Given the description of an element on the screen output the (x, y) to click on. 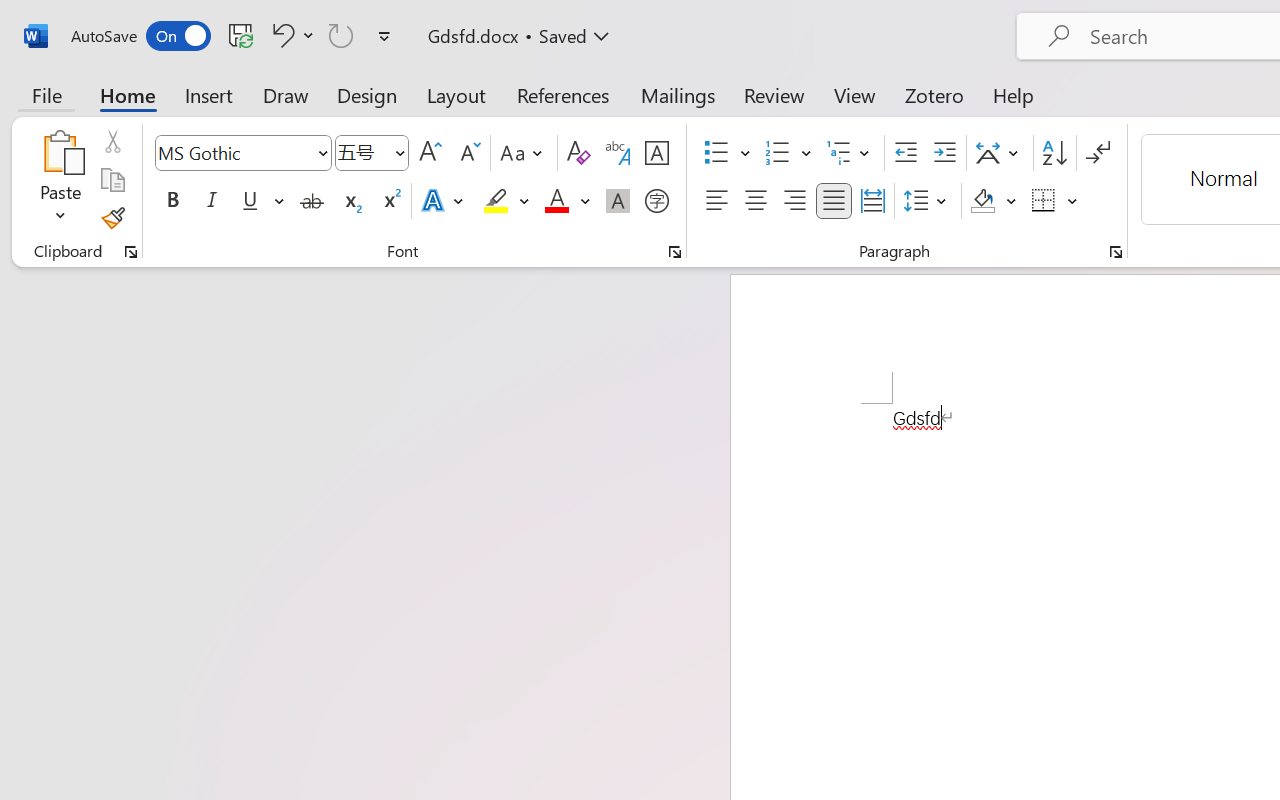
Font Color Red (556, 201)
